Given the description of an element on the screen output the (x, y) to click on. 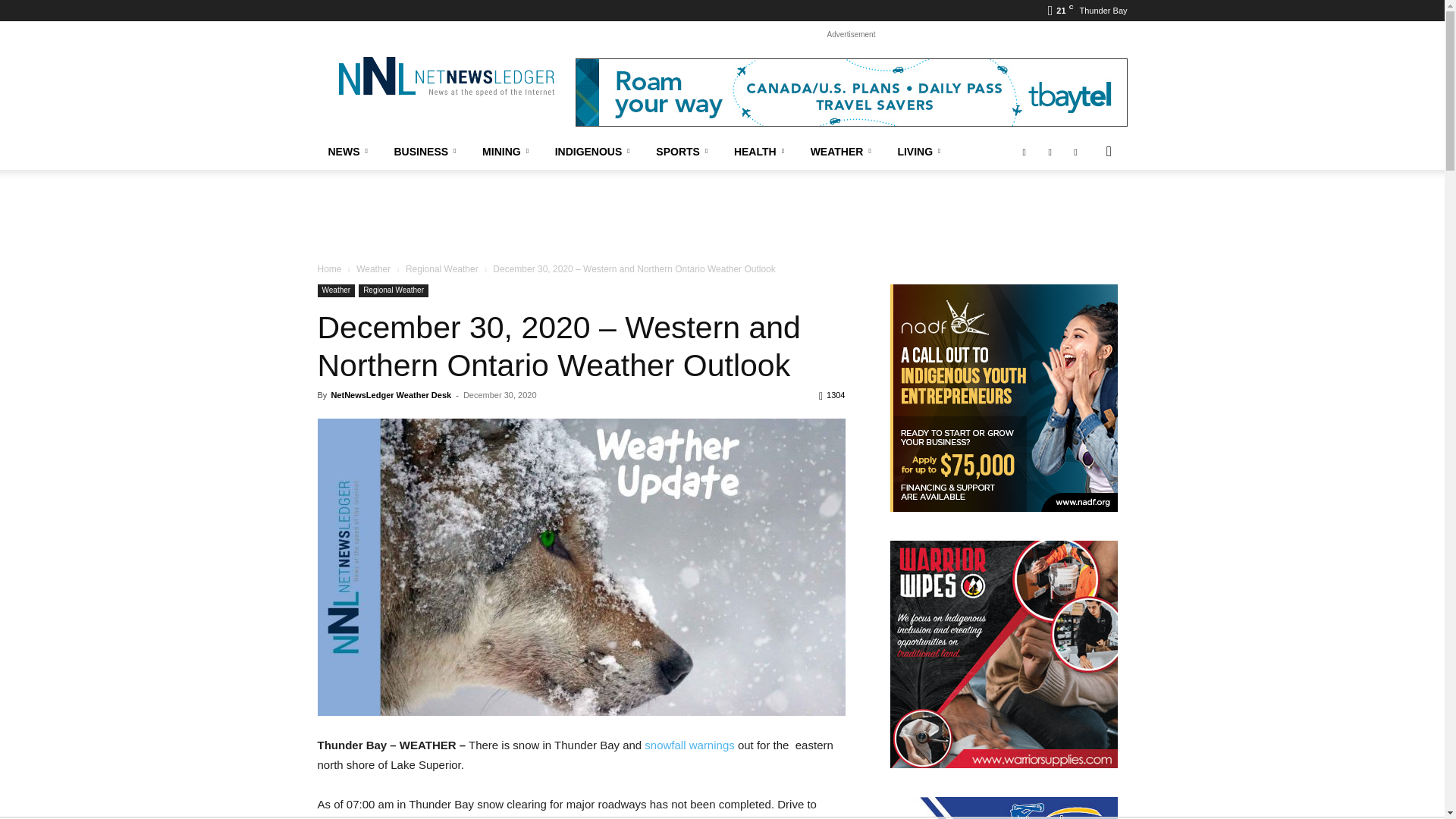
View all posts in Weather (373, 268)
View all posts in Regional Weather (442, 268)
NetNewsLedger (445, 76)
tbaytel (850, 92)
